Given the description of an element on the screen output the (x, y) to click on. 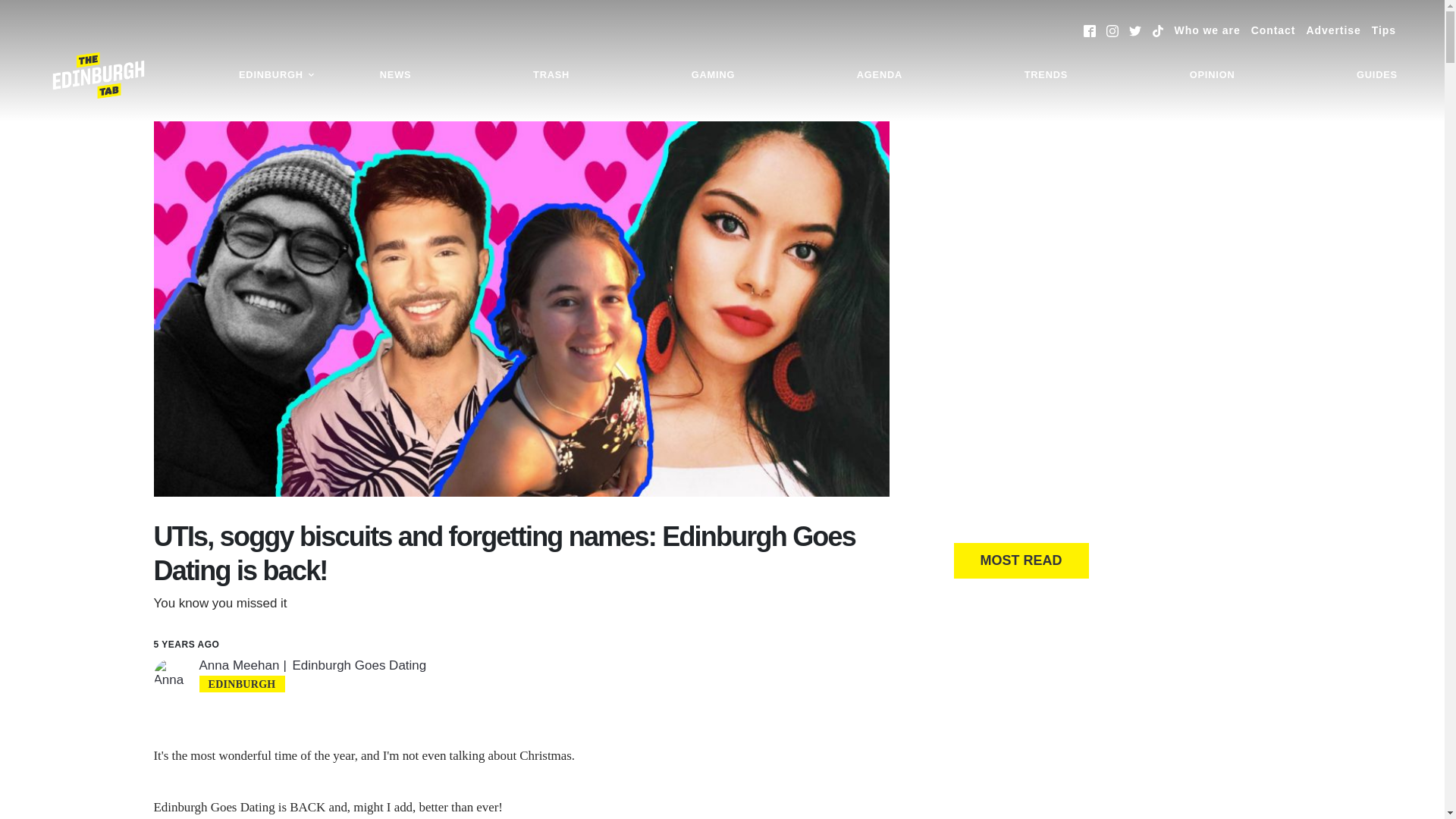
TRASH (550, 75)
EDINBURGH (276, 75)
Who we are (1207, 29)
GAMING (712, 75)
Advertise (1332, 29)
NEWS (395, 75)
Contact (1272, 29)
AGENDA (879, 75)
GUIDES (1377, 75)
OPINION (1211, 75)
